Given the description of an element on the screen output the (x, y) to click on. 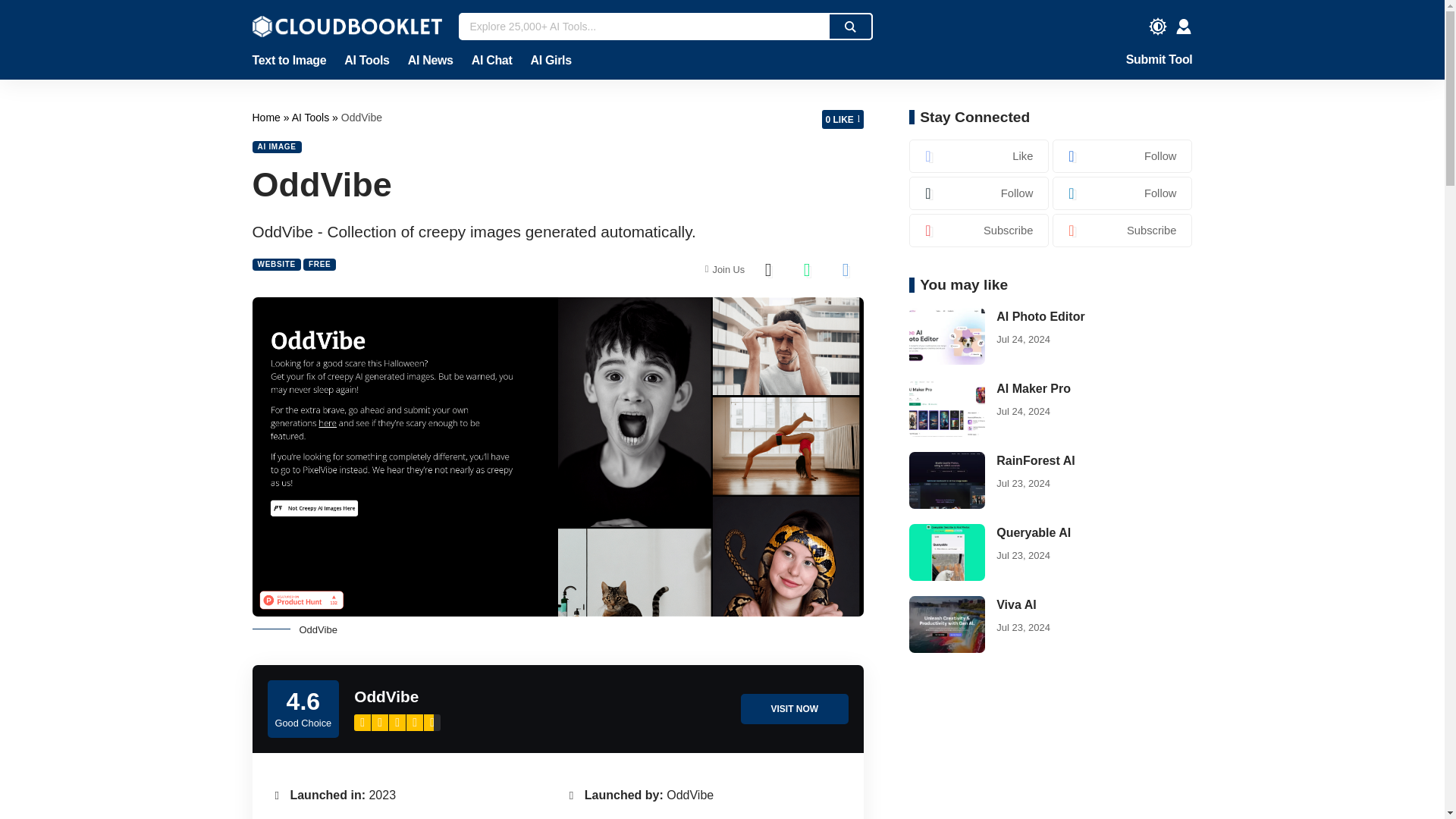
Submit Tool (1158, 60)
AI IMAGE (276, 146)
AI Maker Pro (946, 408)
Cloudbooklet AI (346, 25)
Cloudbooklet AI (266, 117)
Text to Image (292, 60)
AI News (430, 60)
AI Photo Editor (946, 335)
Home (266, 117)
0 LIKE (843, 118)
AI Tools (311, 117)
AI Girls (545, 60)
AI Tools (311, 117)
AI Tools (365, 60)
